Given the description of an element on the screen output the (x, y) to click on. 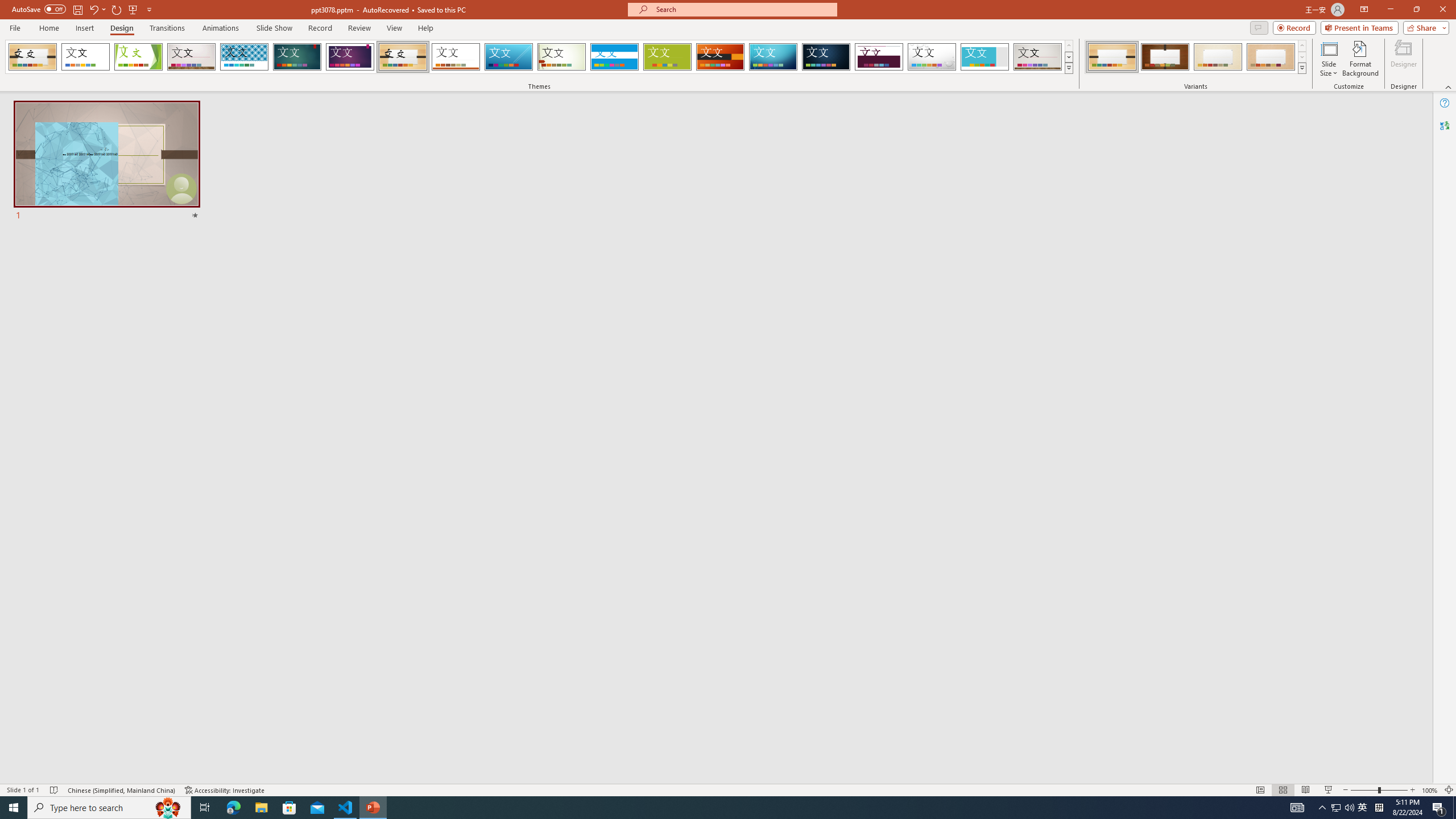
Frame (984, 56)
Integral (244, 56)
Organic (403, 56)
